Given the description of an element on the screen output the (x, y) to click on. 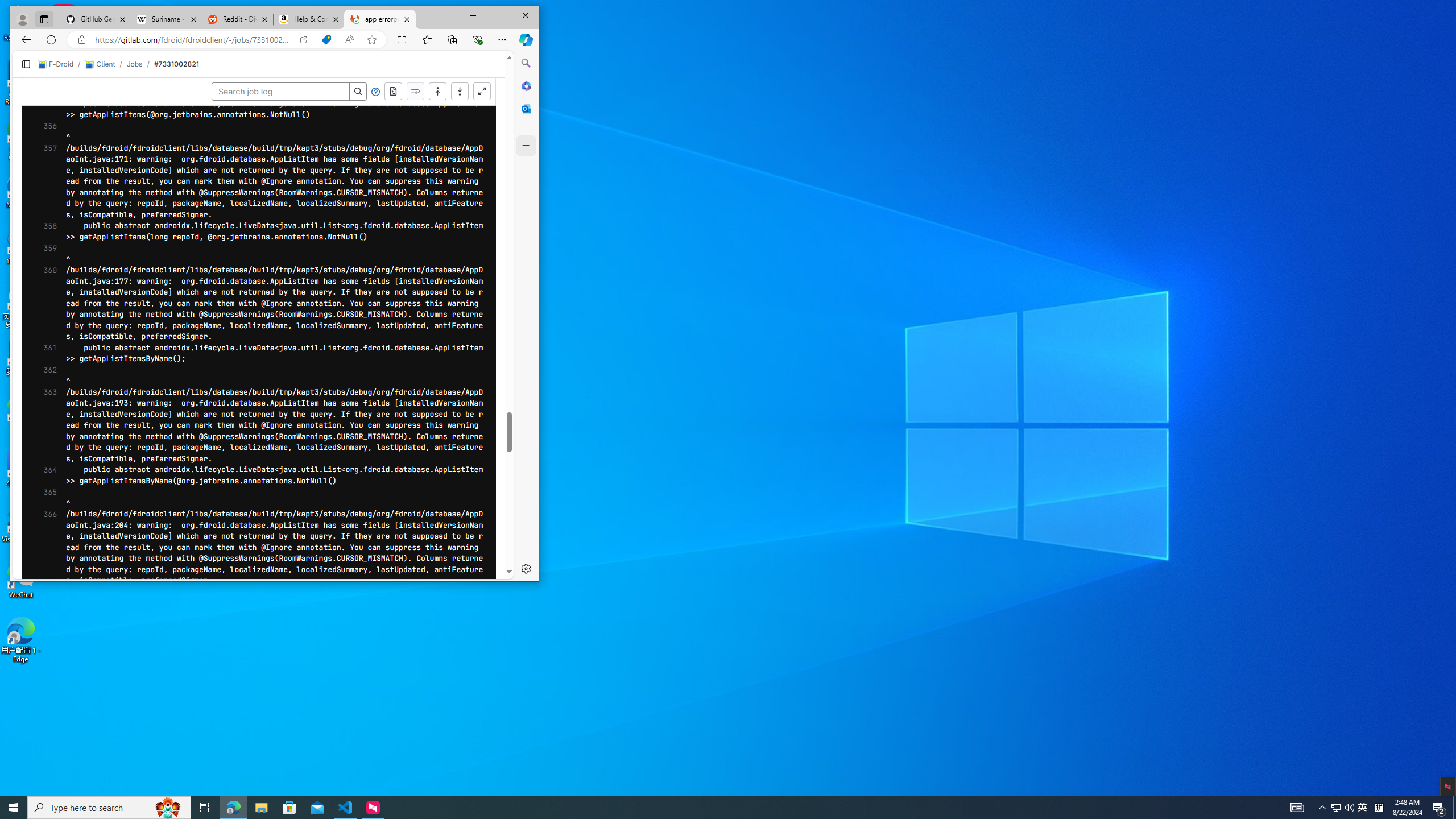
406 (41, 211)
400 (41, 144)
446 (41, 655)
434 (41, 521)
429 (41, 466)
Jobs/ (264, 53)
F-Droid (179, 54)
450 (41, 699)
444 (41, 633)
447 (41, 666)
441 Running after_script 00:01 (557, 743)
Microsoft Edge - 1 running window (233, 807)
Action Center, 2 new notifications (1439, 807)
